Given the description of an element on the screen output the (x, y) to click on. 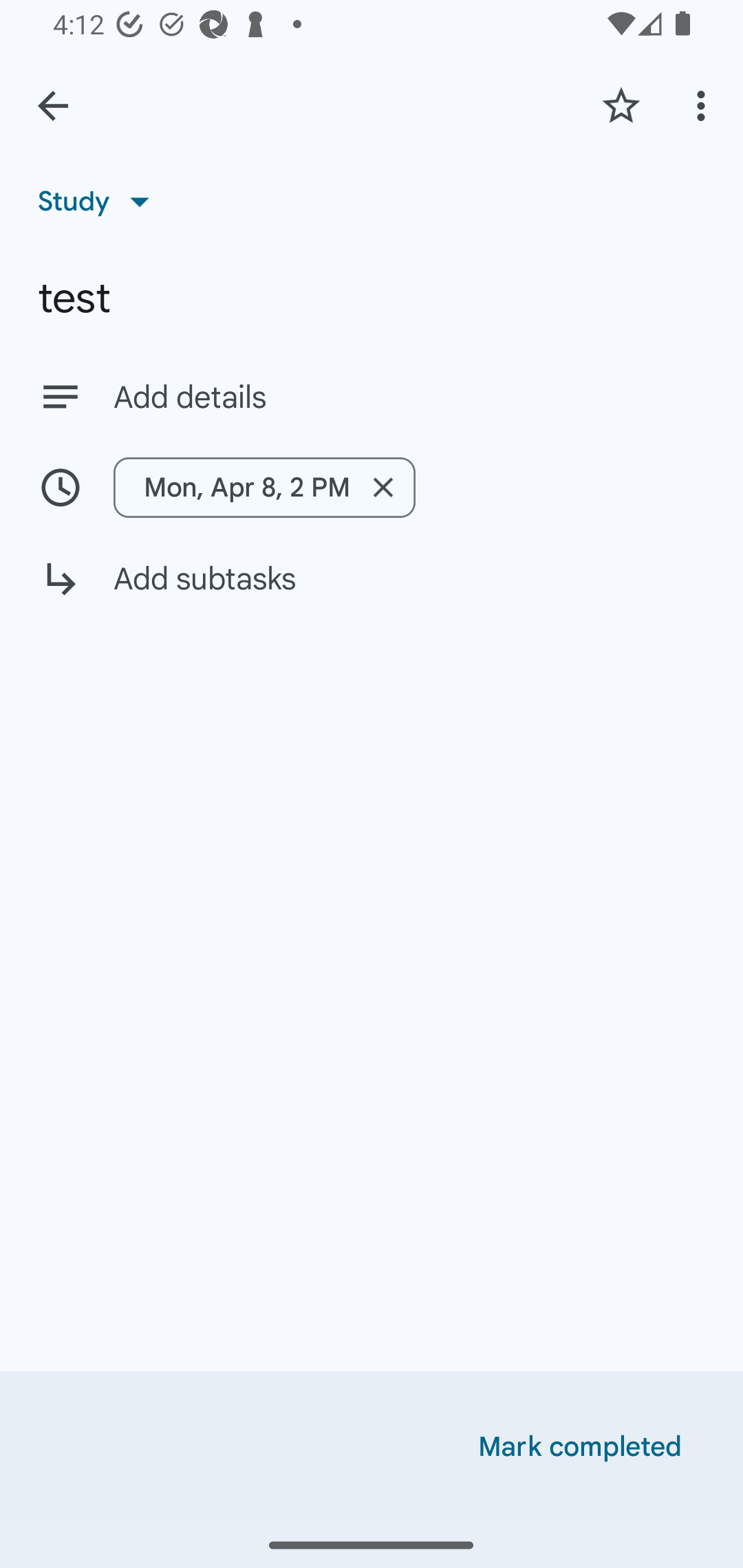
Back (53, 105)
Add star (620, 105)
More options (704, 105)
Study List, Study selected, 1 of 23 (99, 201)
test (371, 298)
Add details (371, 396)
Add details (409, 397)
Mon, Apr 8, 2 PM Remove date/time (371, 487)
Mon, Apr 8, 2 PM Remove date/time (264, 487)
Add subtasks (371, 593)
Mark completed (580, 1446)
